Given the description of an element on the screen output the (x, y) to click on. 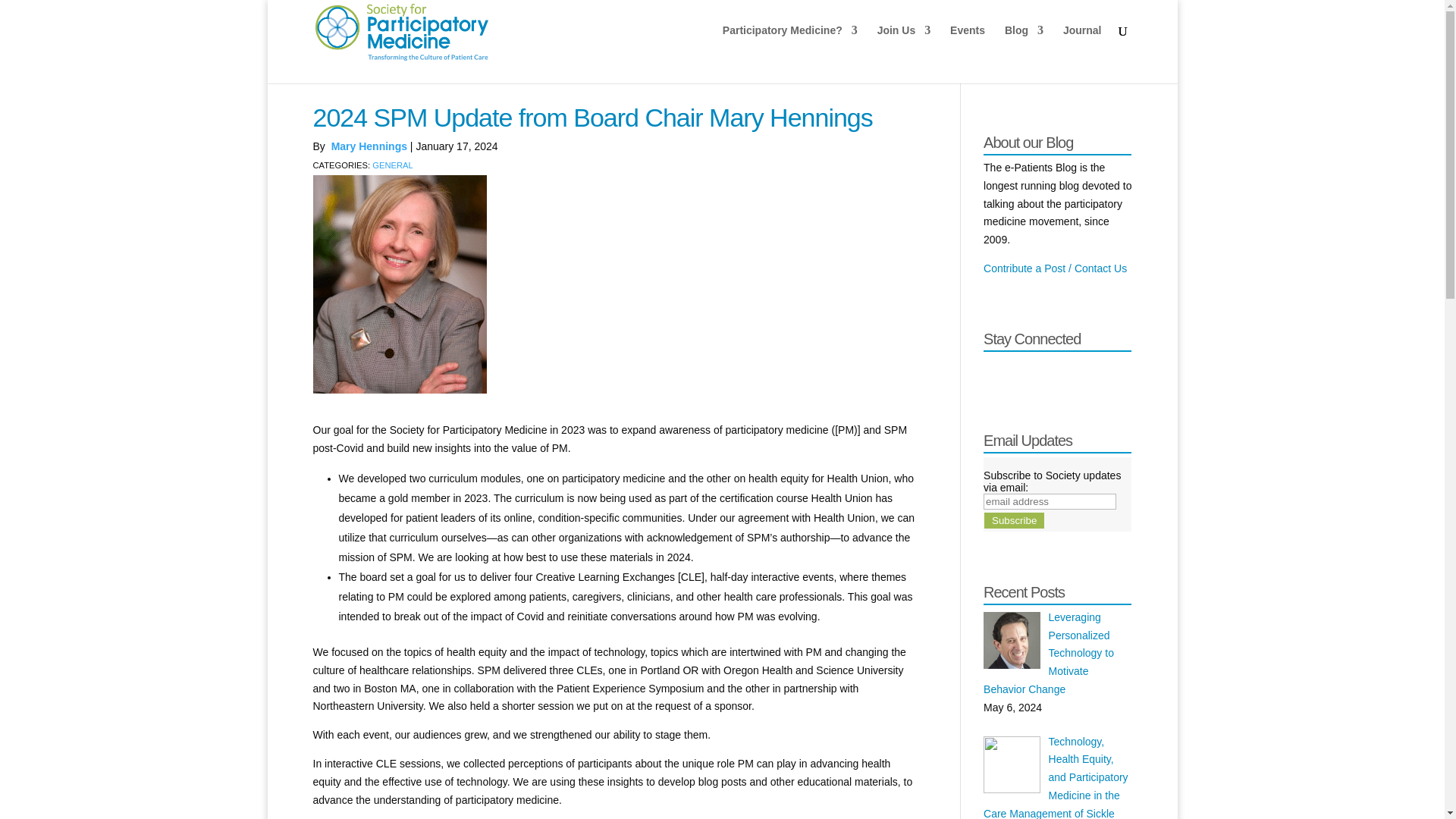
Twitter (1022, 367)
Subscribe (1013, 520)
Facebook (995, 367)
Join Us (904, 42)
Events (967, 42)
LinkedIn (1050, 367)
Journal (1082, 42)
Posts by Mary Hennings (369, 146)
Subscribe (1013, 520)
YouTube (1104, 367)
Blog (1023, 42)
GENERAL (392, 164)
Instagram (1077, 367)
